Given the description of an element on the screen output the (x, y) to click on. 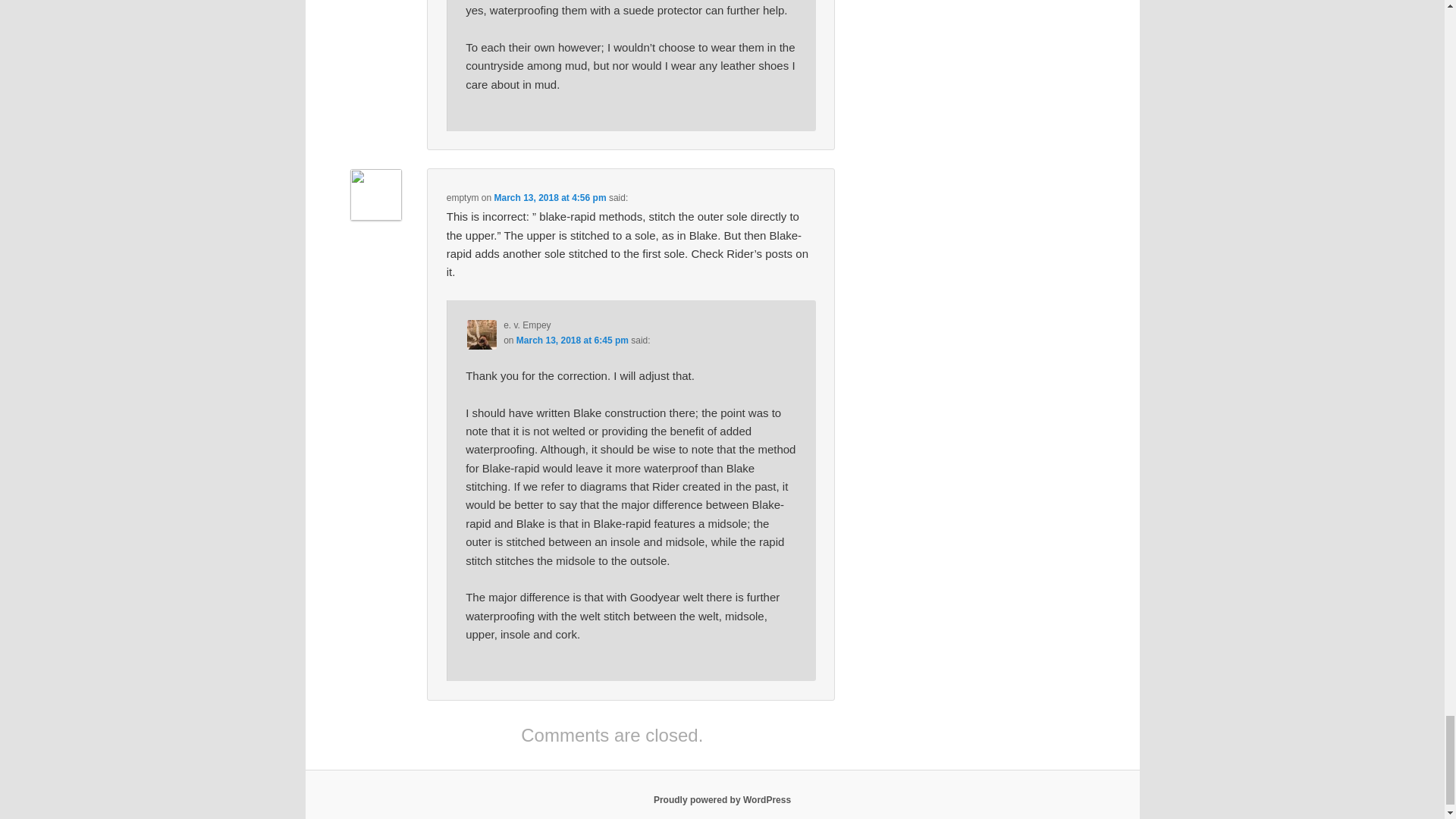
Semantic Personal Publishing Platform (721, 799)
